Given the description of an element on the screen output the (x, y) to click on. 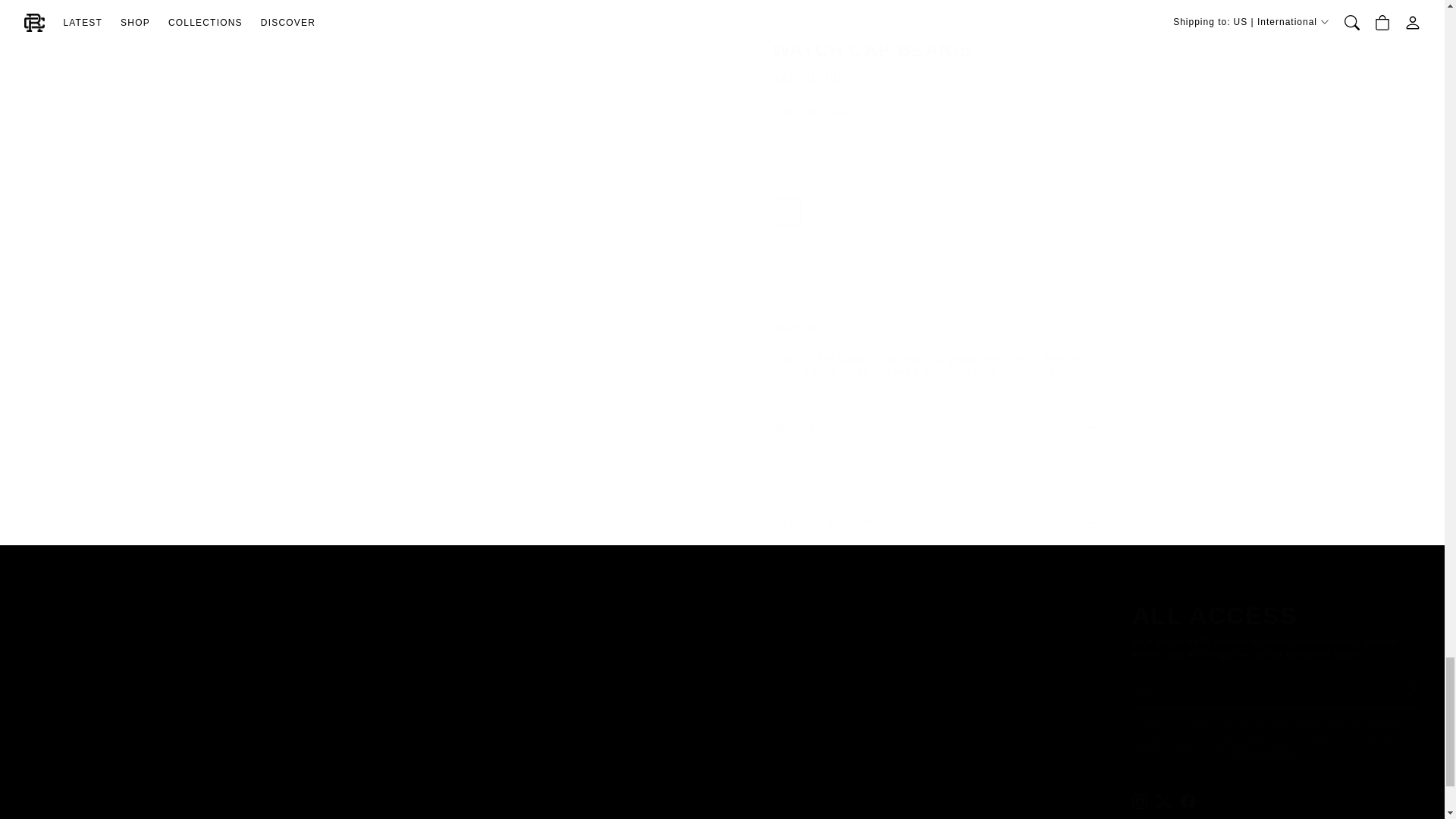
Privacy Policy (1267, 750)
